Given the description of an element on the screen output the (x, y) to click on. 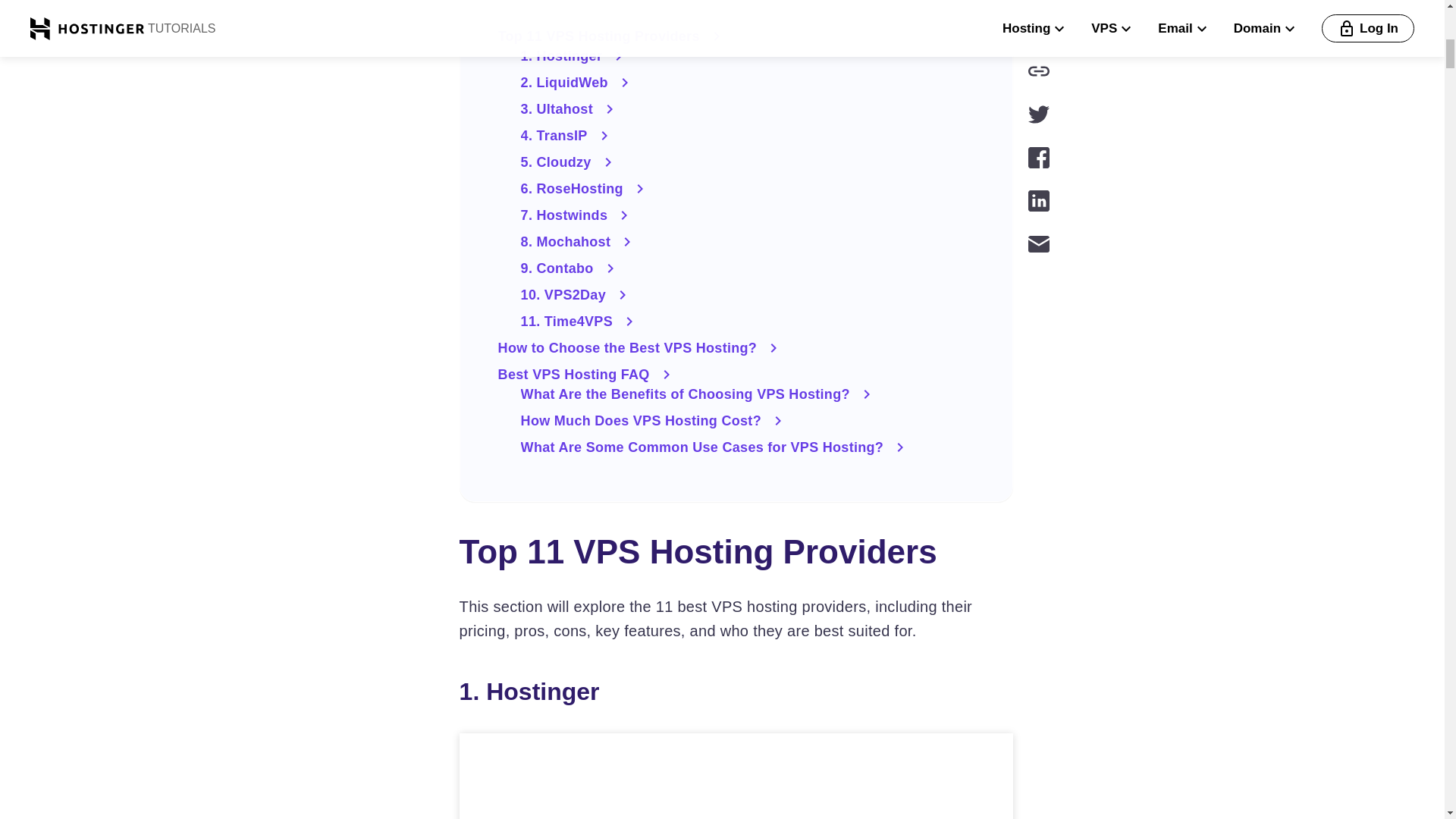
8. Mochahost (747, 241)
Best VPS Hosting FAQ (735, 374)
7. Hostwinds (747, 215)
3. Ultahost (747, 108)
What Are the Benefits of Choosing VPS Hosting? (747, 393)
Top 11 VPS Hosting Providers (735, 36)
6. RoseHosting (747, 188)
6. RoseHosting (747, 188)
2. LiquidWeb (747, 82)
1. Hostinger (747, 55)
